Given the description of an element on the screen output the (x, y) to click on. 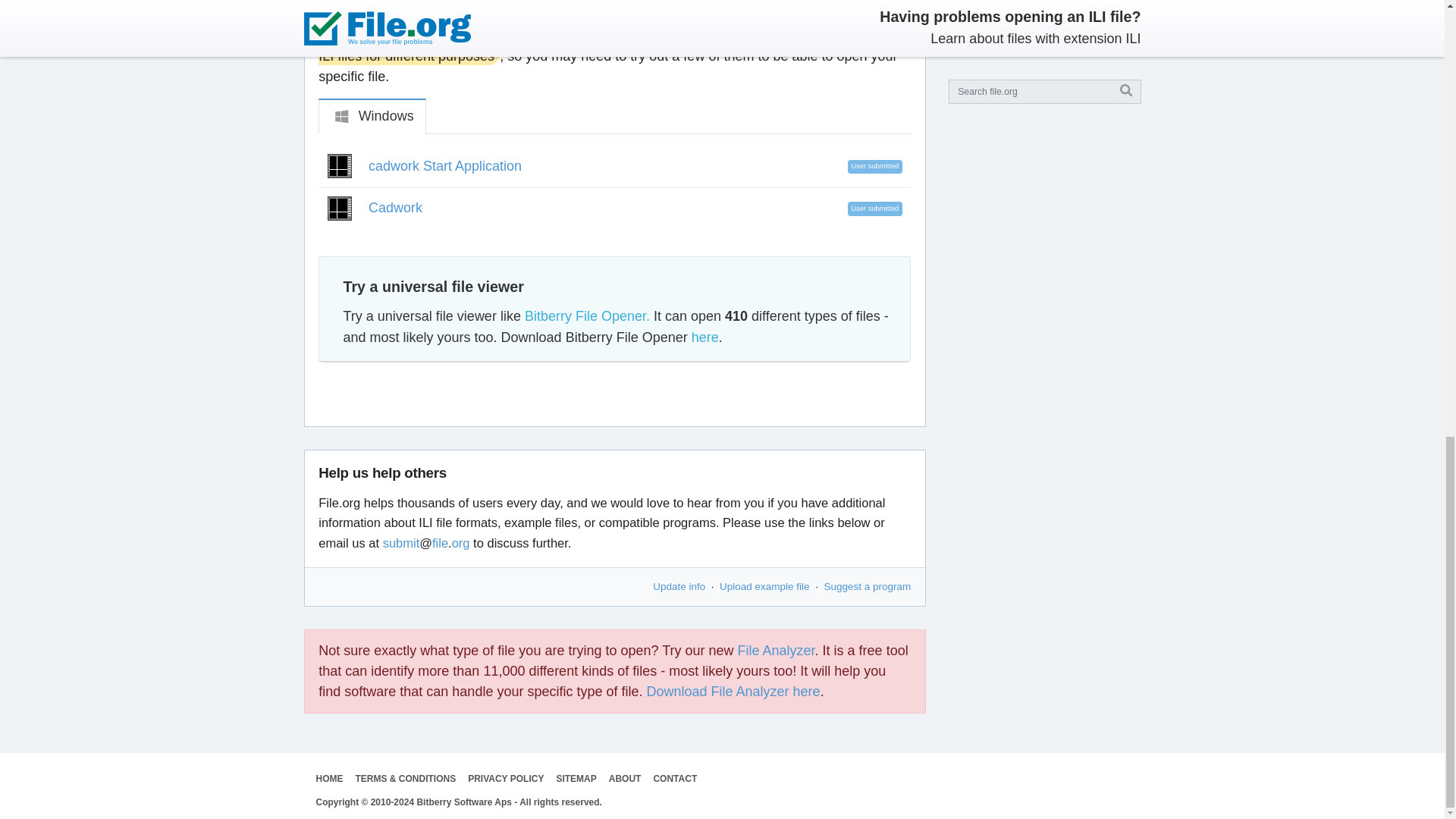
Cadwork (395, 207)
Bitberry File Opener. (586, 315)
Upload example file (764, 586)
SITEMAP (575, 778)
cadwork Start Application (444, 165)
HOME (328, 778)
ABOUT (625, 778)
Update info (678, 586)
Suggest a program (867, 586)
here (705, 337)
